Given the description of an element on the screen output the (x, y) to click on. 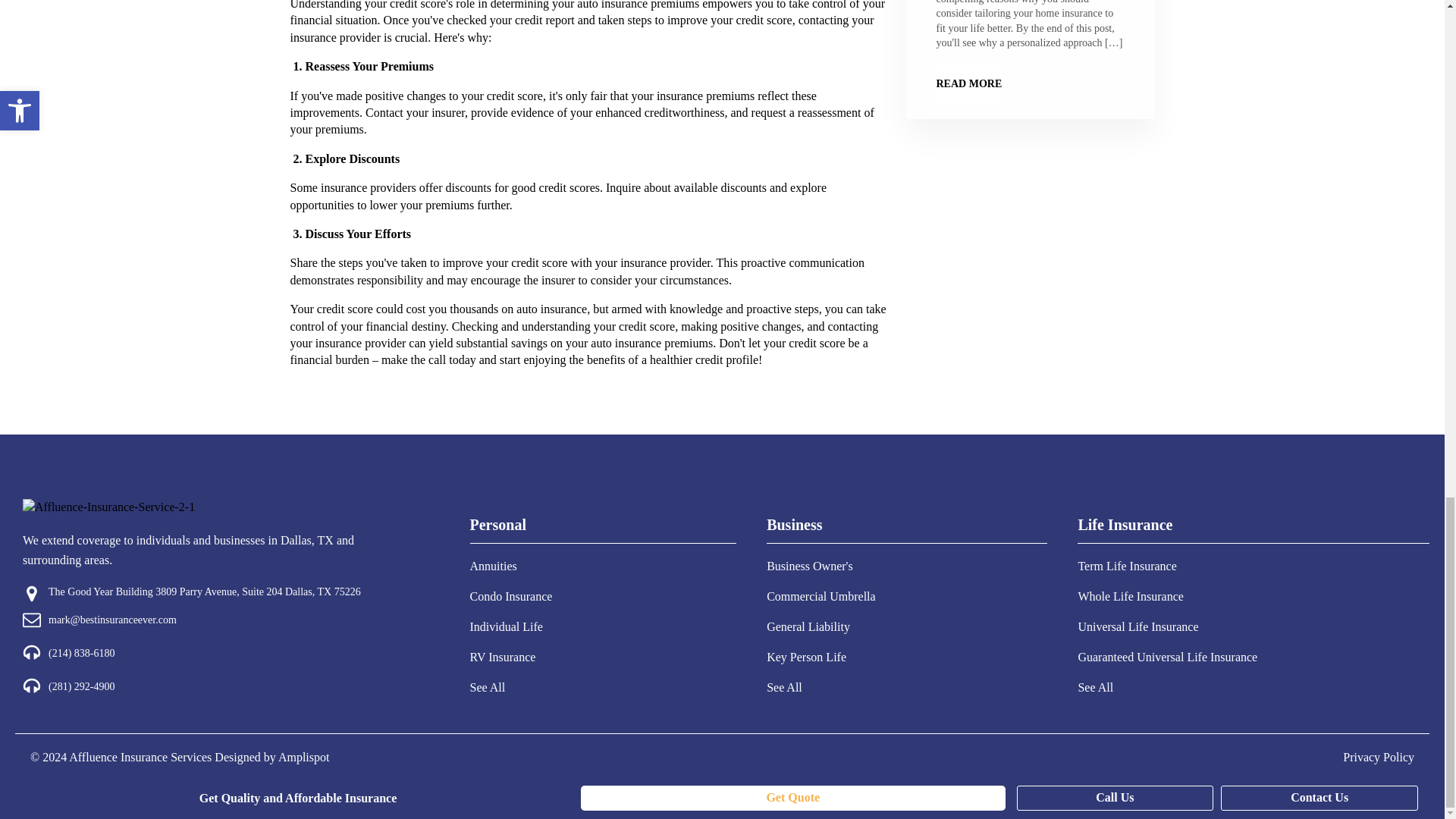
Condo Insurance (510, 596)
READ MORE (968, 84)
Annuities (510, 566)
